Given the description of an element on the screen output the (x, y) to click on. 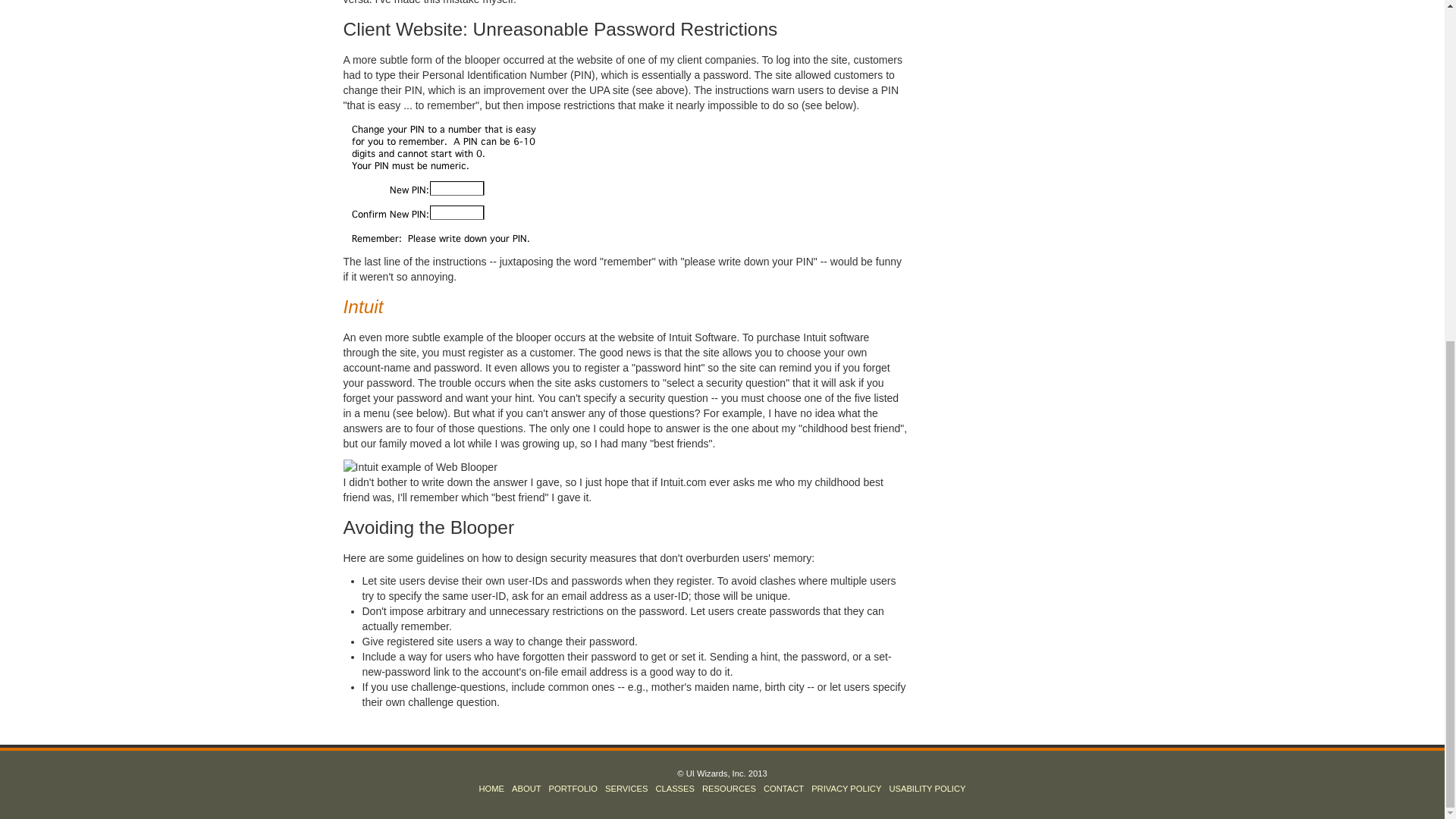
Intuit (362, 306)
ABOUT (526, 788)
USABILITY POLICY (927, 788)
CONTACT (784, 788)
CLASSES (674, 788)
SERVICES (625, 788)
RESOURCES (729, 788)
HOME (491, 788)
PORTFOLIO (572, 788)
Intuit (362, 306)
